Given the description of an element on the screen output the (x, y) to click on. 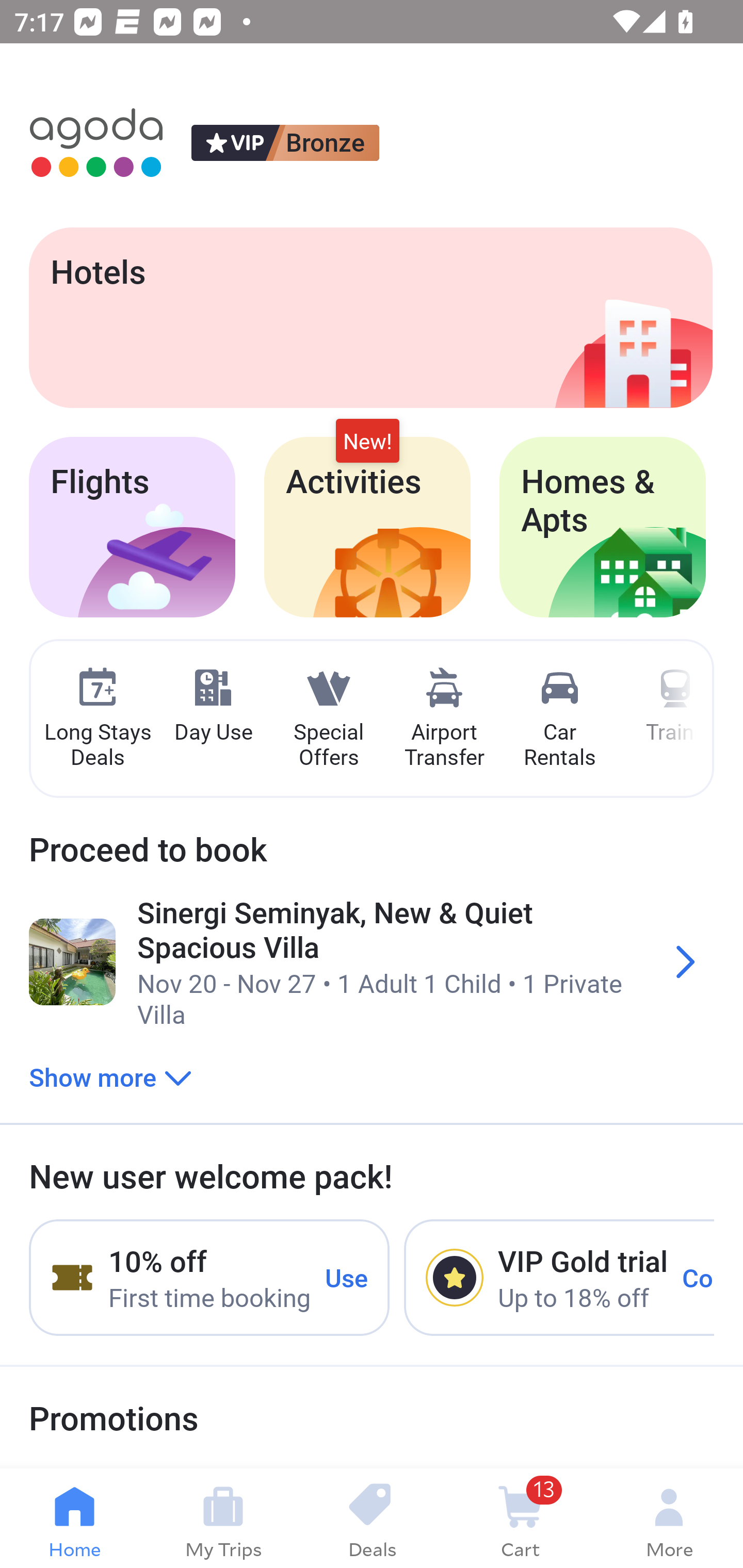
Hotels (370, 317)
New! (367, 441)
Flights (131, 527)
Activities (367, 527)
Homes & Apts (602, 527)
Day Use (213, 706)
Long Stays Deals (97, 718)
Special Offers (328, 718)
Airport Transfer (444, 718)
Car Rentals (559, 718)
Show more (110, 1076)
Use (346, 1277)
Home (74, 1518)
My Trips (222, 1518)
Deals (371, 1518)
13 Cart (519, 1518)
More (668, 1518)
